Given the description of an element on the screen output the (x, y) to click on. 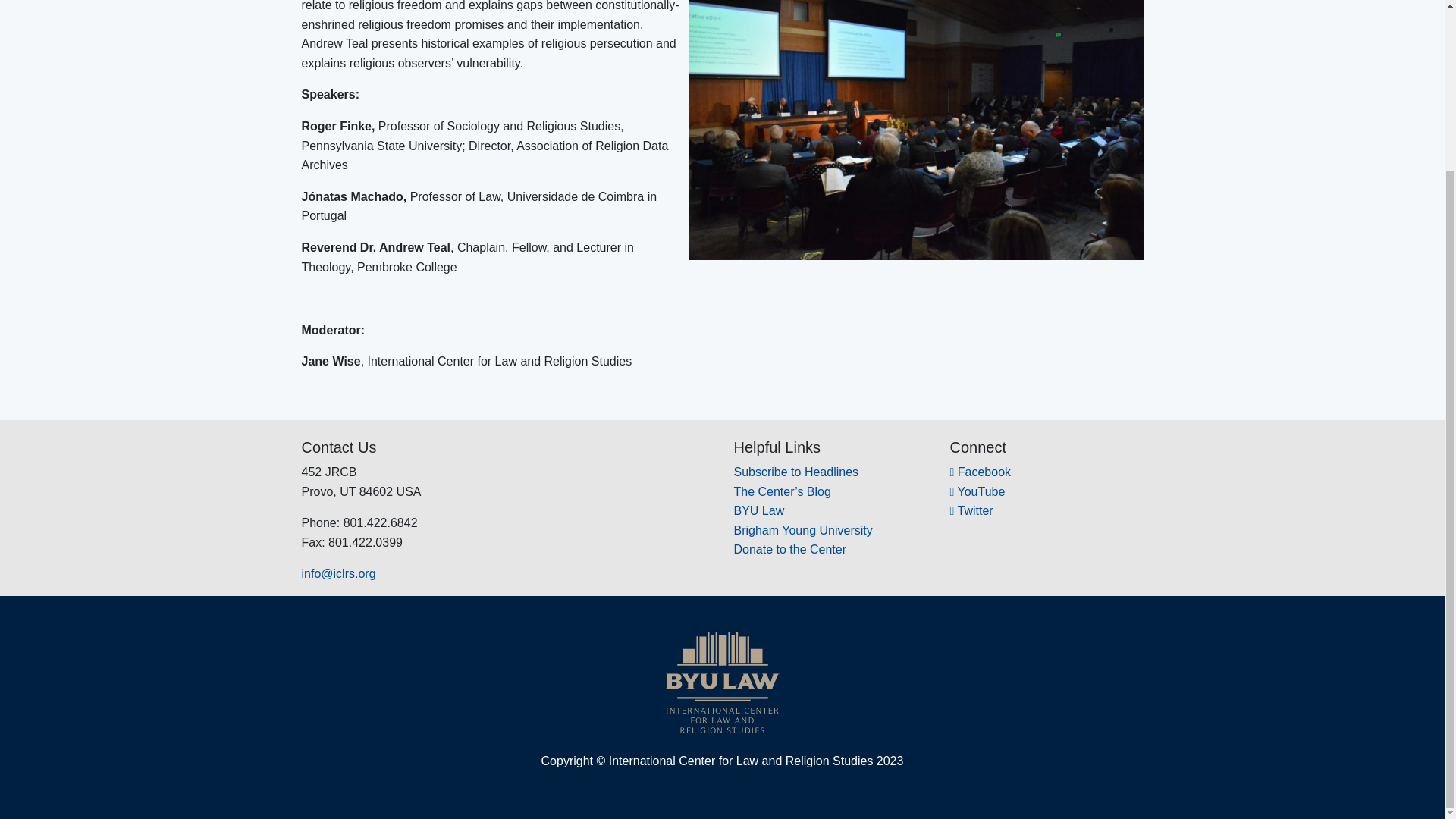
Brigham Young University (802, 530)
Donate to the Center (790, 549)
BYU Law (758, 510)
YouTube (976, 491)
Twitter (970, 510)
Subscribe to Headlines (796, 472)
Facebook (979, 472)
